Given the description of an element on the screen output the (x, y) to click on. 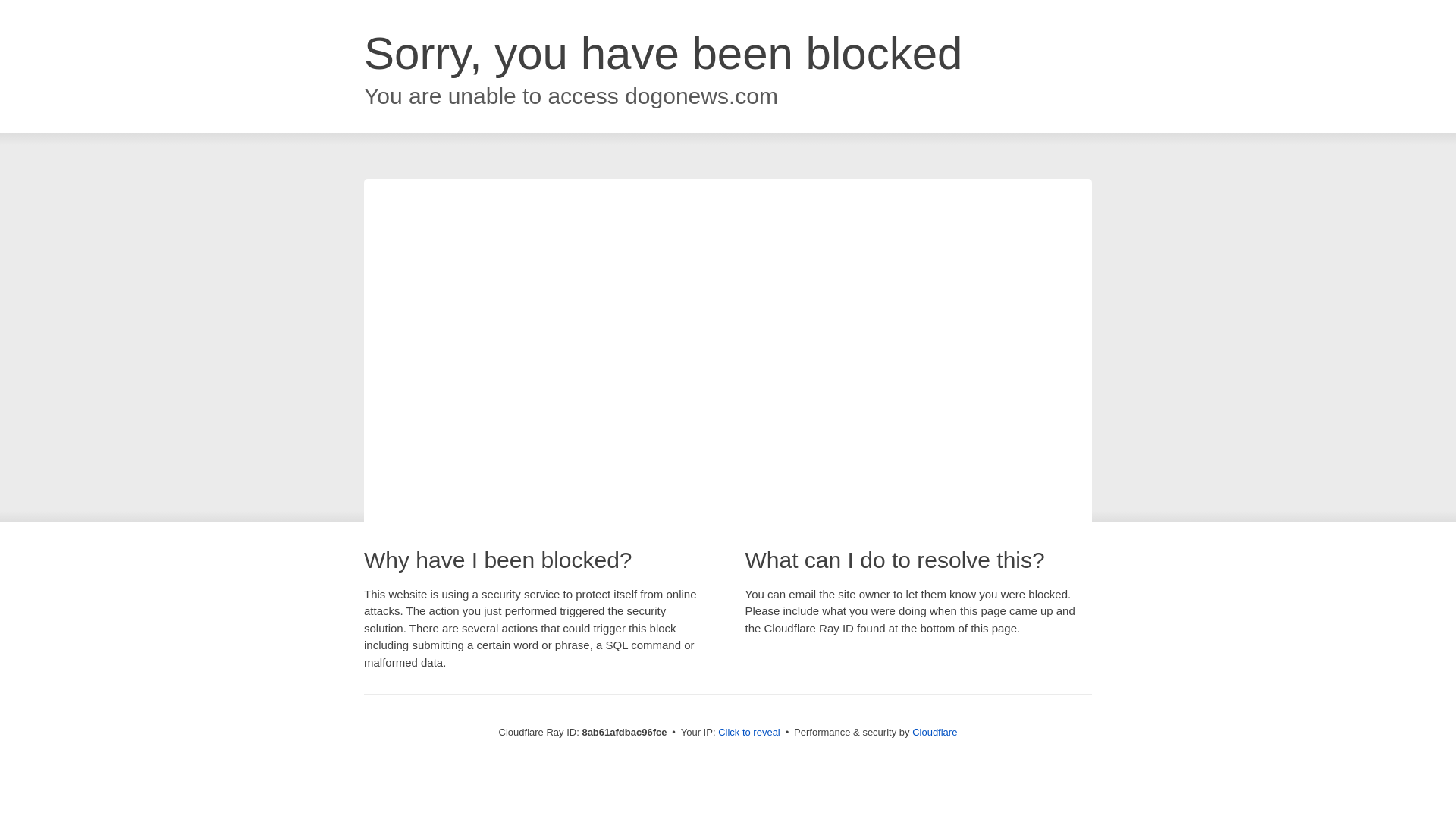
Click to reveal (748, 732)
Cloudflare (934, 731)
